Given the description of an element on the screen output the (x, y) to click on. 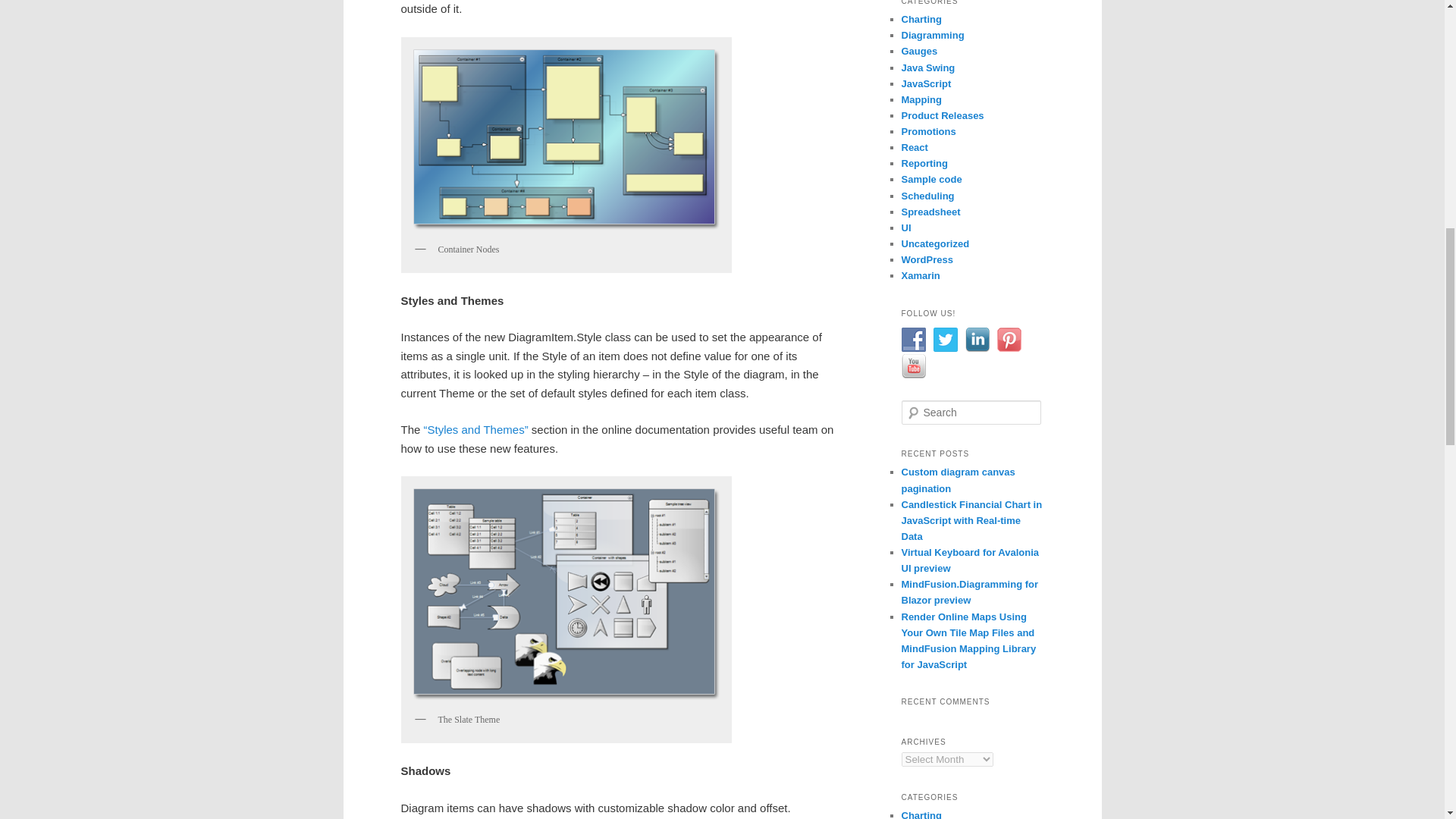
Follow Us on Pinterest (1007, 339)
JavaScript (925, 83)
Mapping (920, 99)
Gauges (919, 50)
Follow Us on Twitter (944, 339)
Follow Us on YouTube (912, 365)
Follow Us on LinkedIn (975, 339)
Java Swing (928, 67)
Diagramming (932, 34)
Follow Us on Facebook (912, 339)
Charting (920, 19)
Product Releases (942, 115)
